Given the description of an element on the screen output the (x, y) to click on. 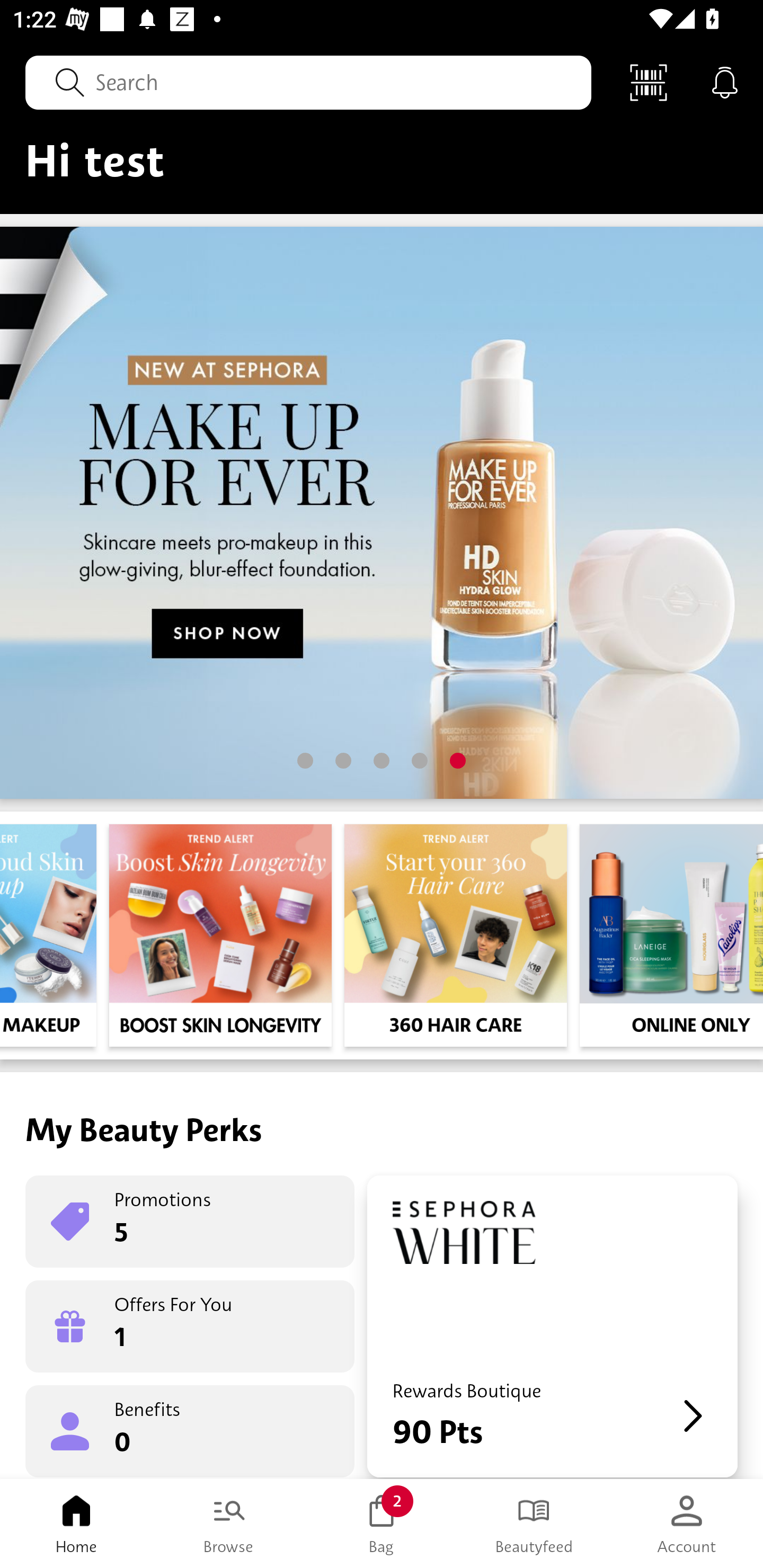
Scan Code (648, 81)
Notifications (724, 81)
Search (308, 81)
Promotions 5 (189, 1221)
Rewards Boutique 90 Pts (552, 1326)
Offers For You 1 (189, 1326)
Benefits 0 (189, 1430)
Browse (228, 1523)
Bag 2 Bag (381, 1523)
Beautyfeed (533, 1523)
Account (686, 1523)
